Given the description of an element on the screen output the (x, y) to click on. 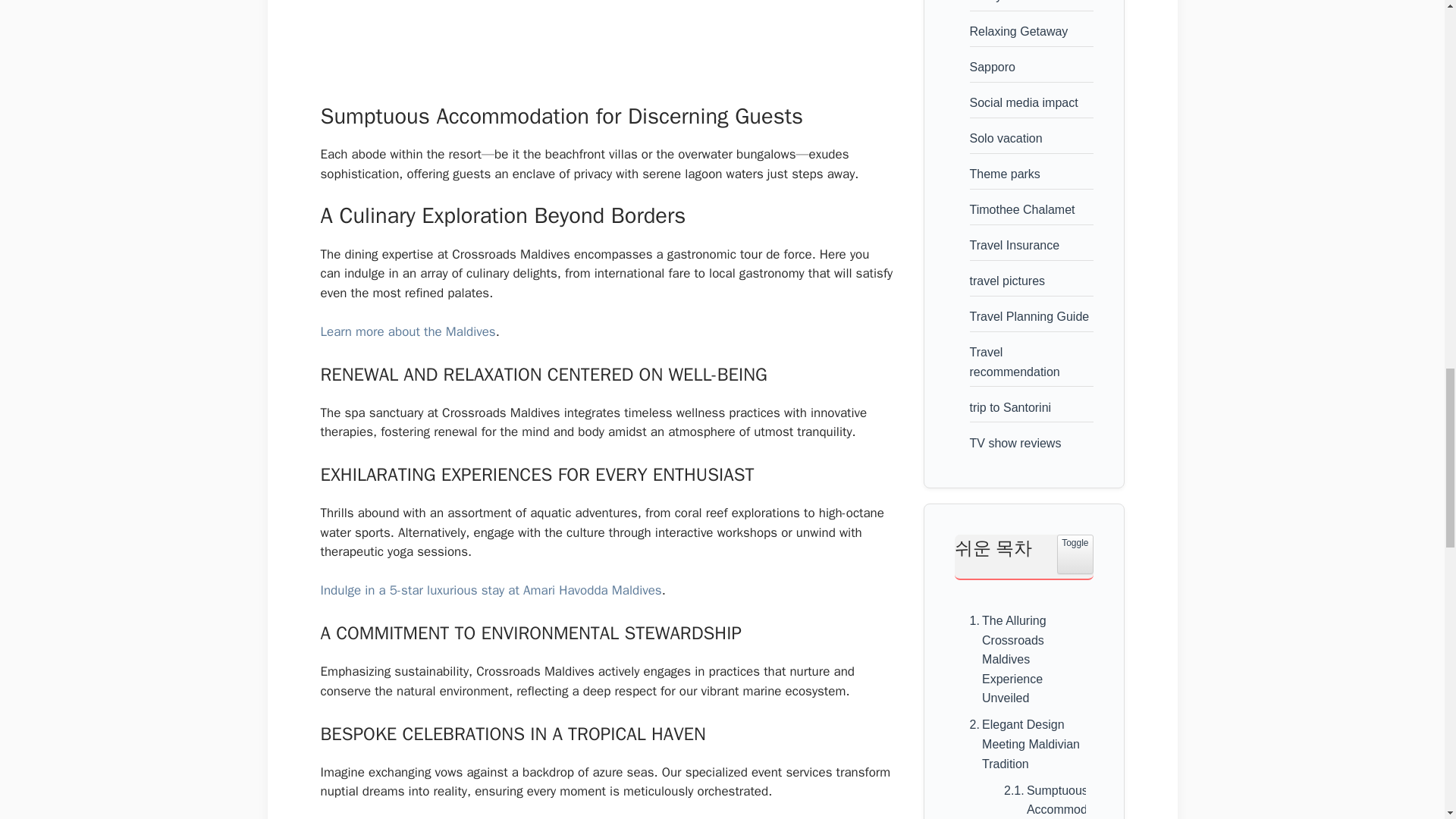
Learn more about the Maldives (407, 331)
The Alluring Crossroads Maldives Experience Unveiled (1022, 659)
star luxurious stay at amari havodda maldives (490, 590)
Indulge in a 5-star luxurious stay at Amari Havodda Maldives (490, 590)
